Given the description of an element on the screen output the (x, y) to click on. 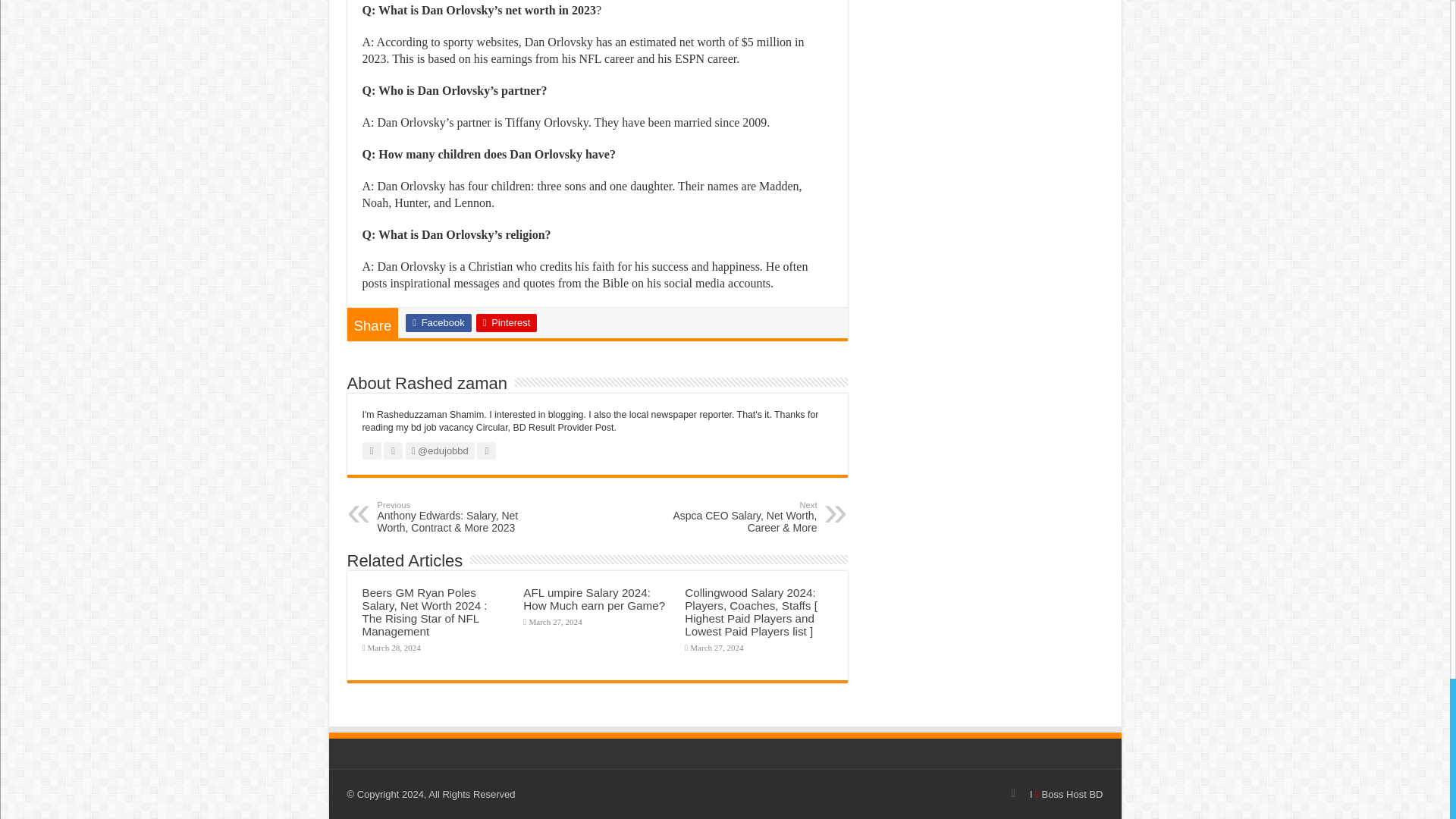
Facebook (438, 322)
AFL umpire Salary 2024: How Much earn per Game? (593, 598)
Pinterest (506, 322)
